Given the description of an element on the screen output the (x, y) to click on. 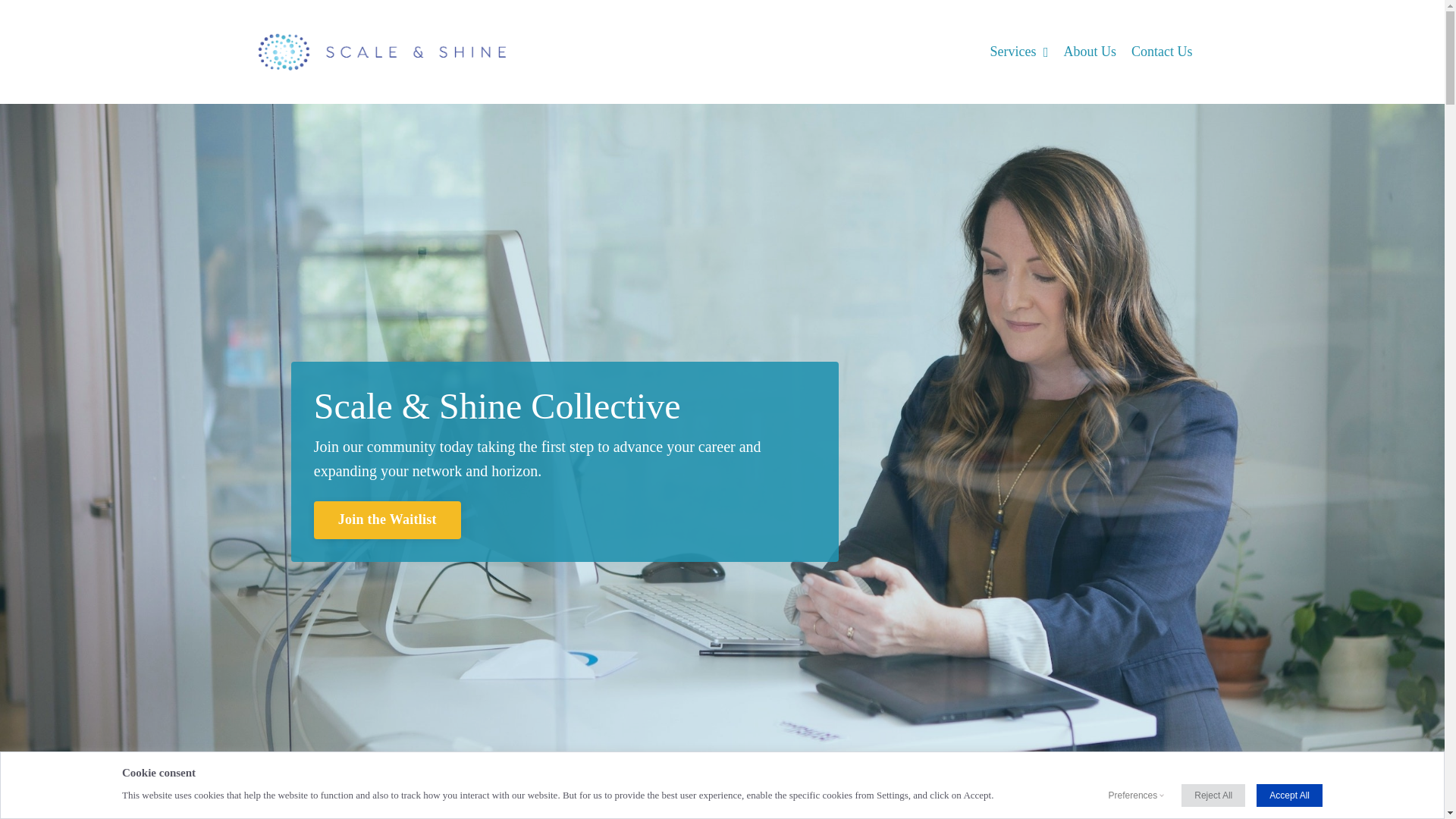
Reject All (1212, 794)
Services (1019, 51)
Accept All (1289, 794)
About Us (1089, 51)
Contact Us (1161, 51)
Join the Waitlist (387, 519)
Preferences (1133, 794)
